Given the description of an element on the screen output the (x, y) to click on. 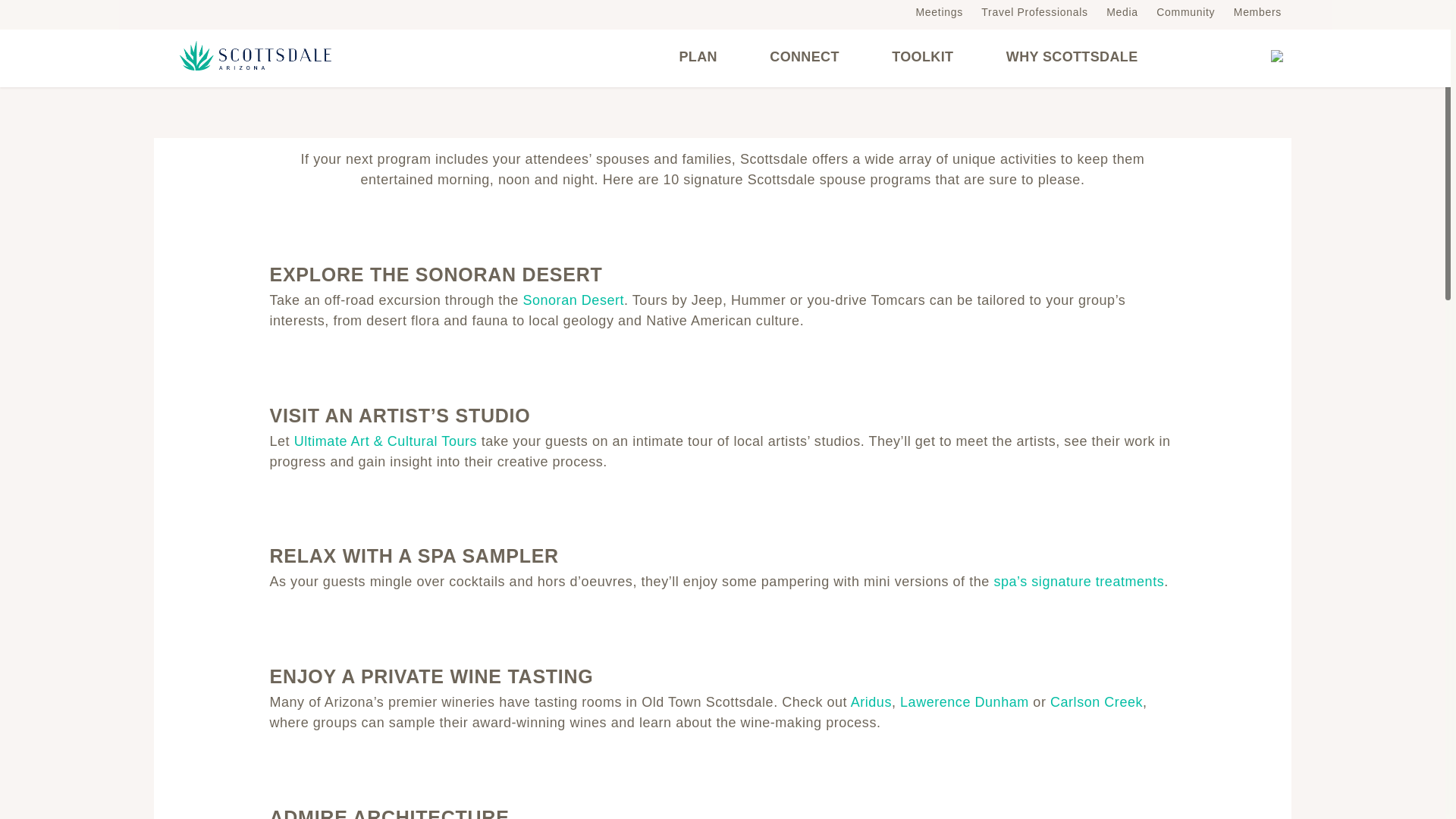
Meetings (938, 11)
Meetings (938, 11)
Travel Professionals (1034, 11)
Media (1122, 11)
